Given the description of an element on the screen output the (x, y) to click on. 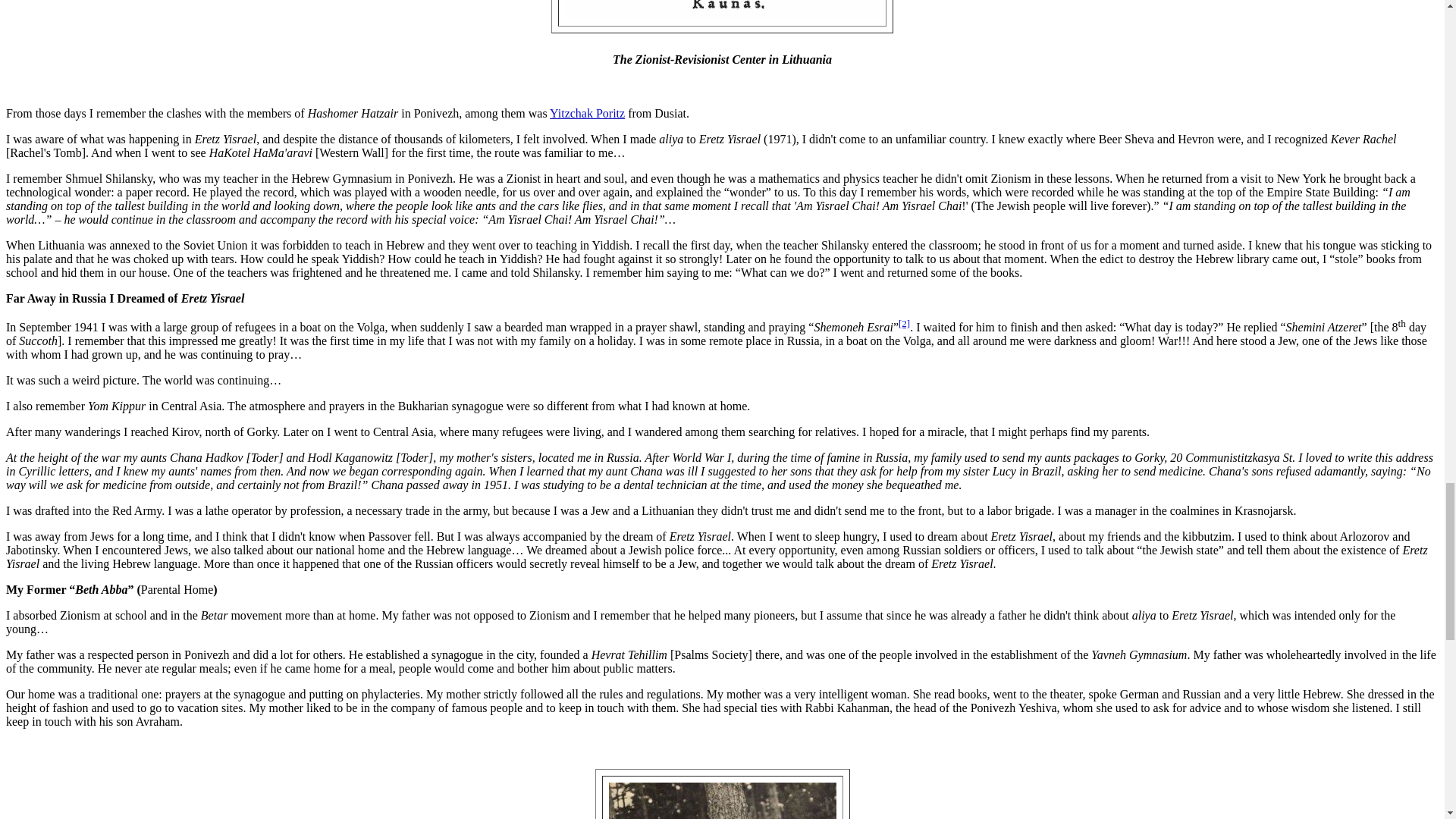
Yitzchak Poritz (587, 113)
